Given the description of an element on the screen output the (x, y) to click on. 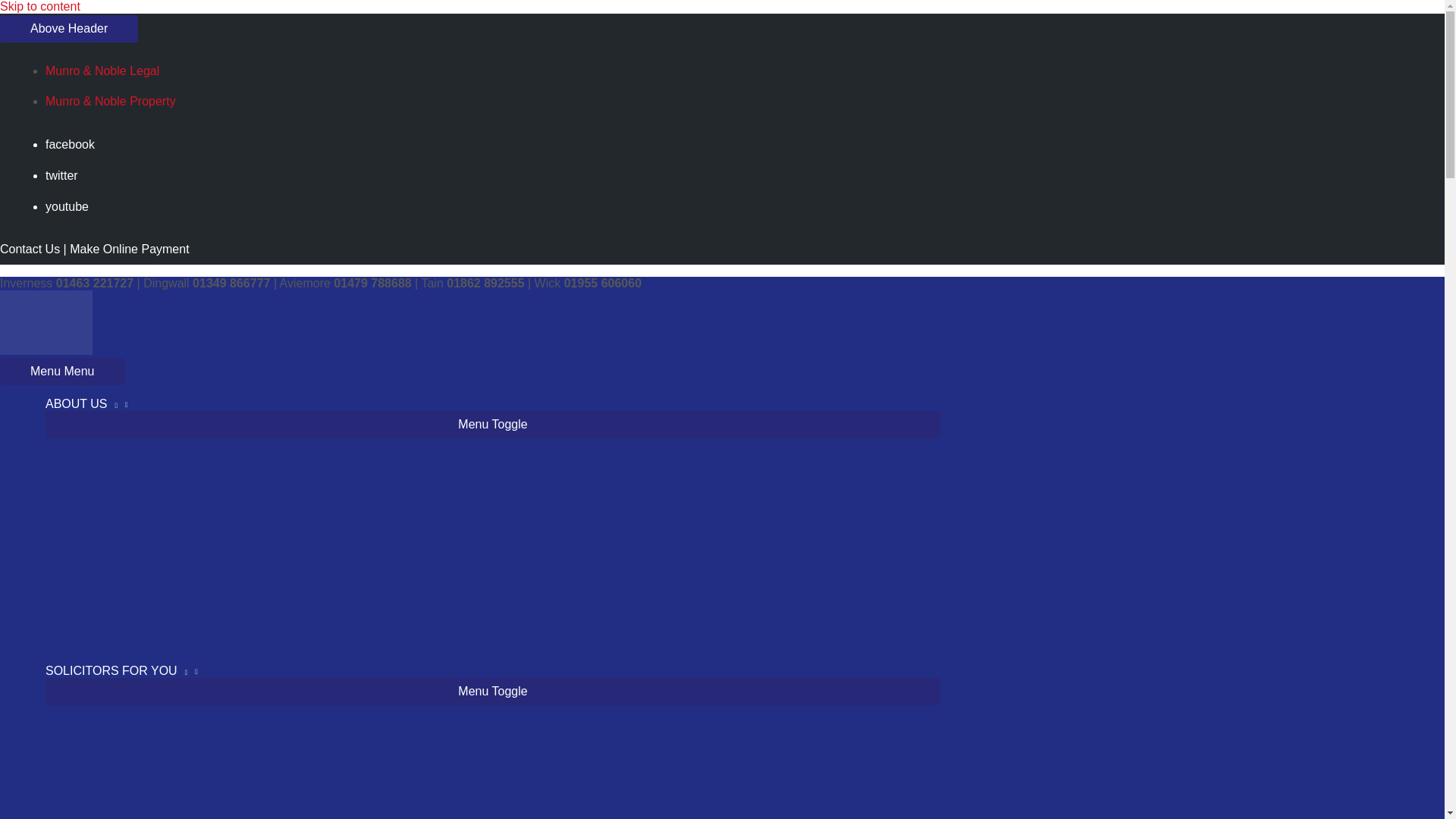
Above Header (69, 28)
facebook (75, 144)
Instagram (72, 205)
Twitter (67, 174)
ABOUT US (492, 404)
Contact Us (29, 248)
Menu Menu (62, 370)
twitter (67, 174)
Menu Toggle (492, 424)
Skip to content (40, 6)
SOLICITORS FOR YOU (492, 671)
Make Online Payment (129, 248)
youtube (72, 205)
Skip to content (40, 6)
Facebook (75, 144)
